Given the description of an element on the screen output the (x, y) to click on. 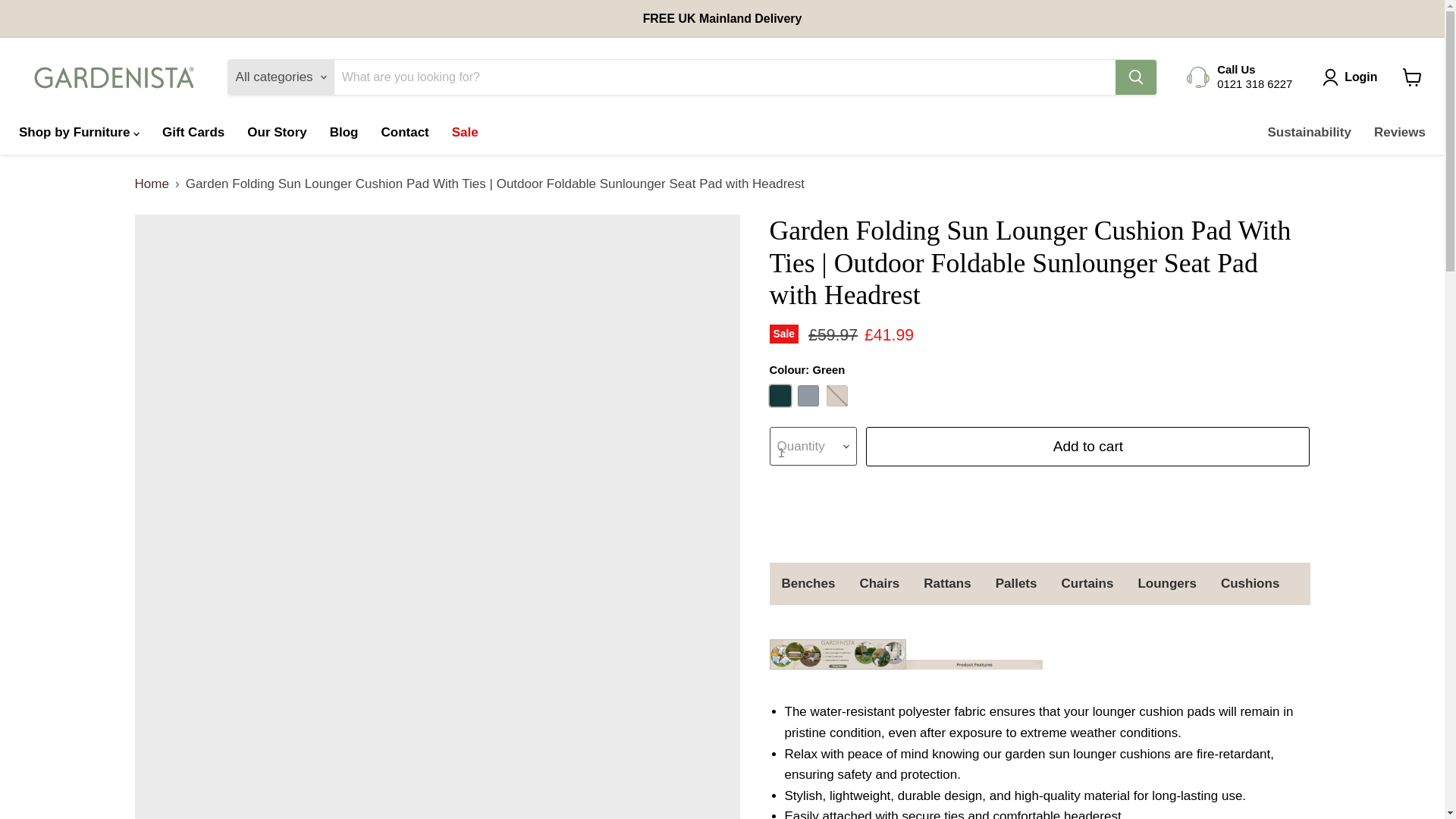
Sustainability (1308, 132)
Gift Cards (193, 132)
Blog (343, 132)
Login (1361, 76)
Contact (404, 132)
Sale (465, 132)
View cart (1411, 77)
Reviews (1399, 132)
Our Story (276, 132)
